Given the description of an element on the screen output the (x, y) to click on. 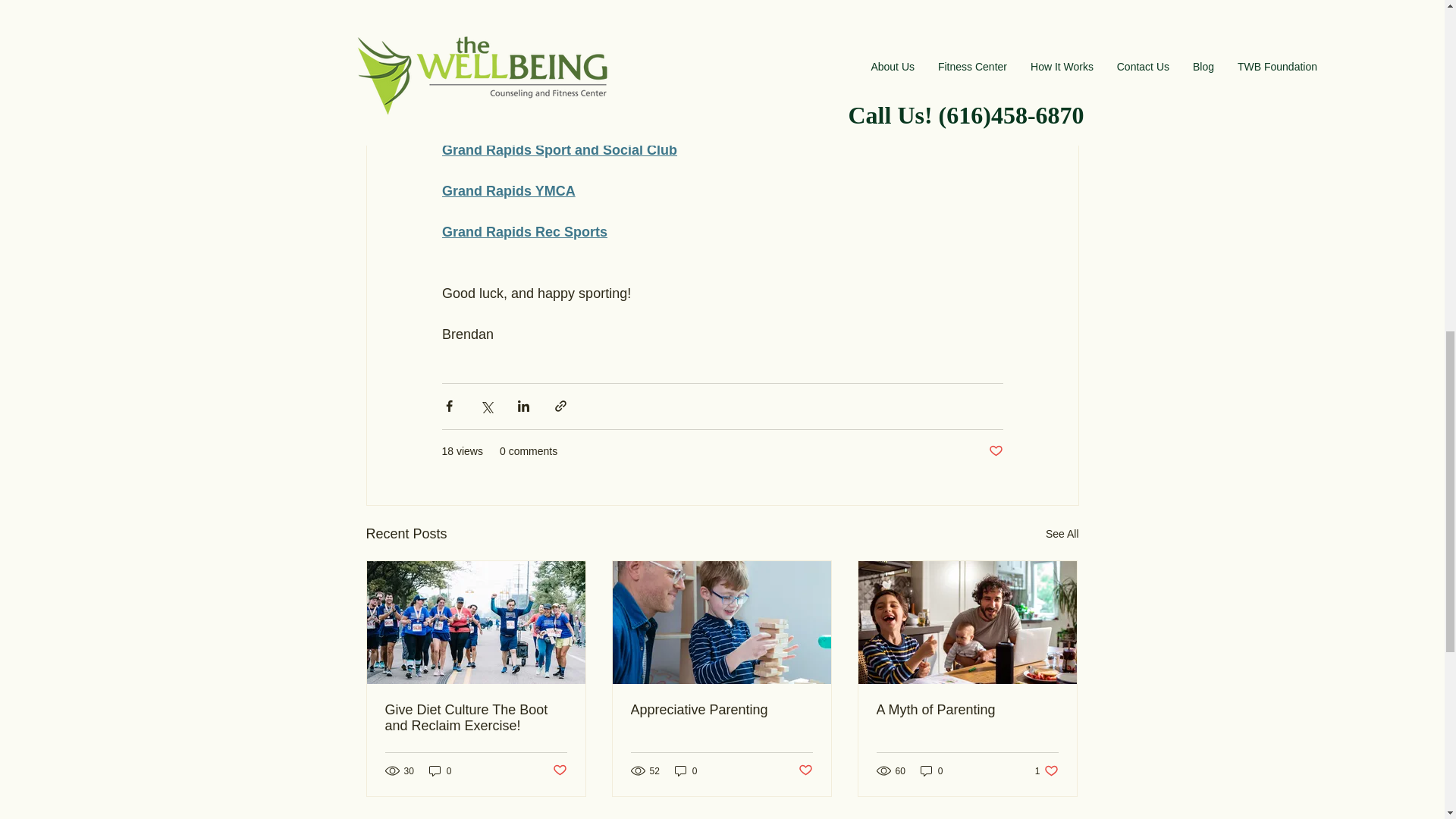
A Myth of Parenting (967, 709)
Grand Rapids Rec Sports (524, 231)
Appreciative Parenting (721, 709)
See All (1061, 534)
Give Diet Culture The Boot and Reclaim Exercise! (476, 717)
Post not marked as liked (995, 451)
0 (1046, 770)
Post not marked as liked (440, 770)
0 (804, 770)
